Given the description of an element on the screen output the (x, y) to click on. 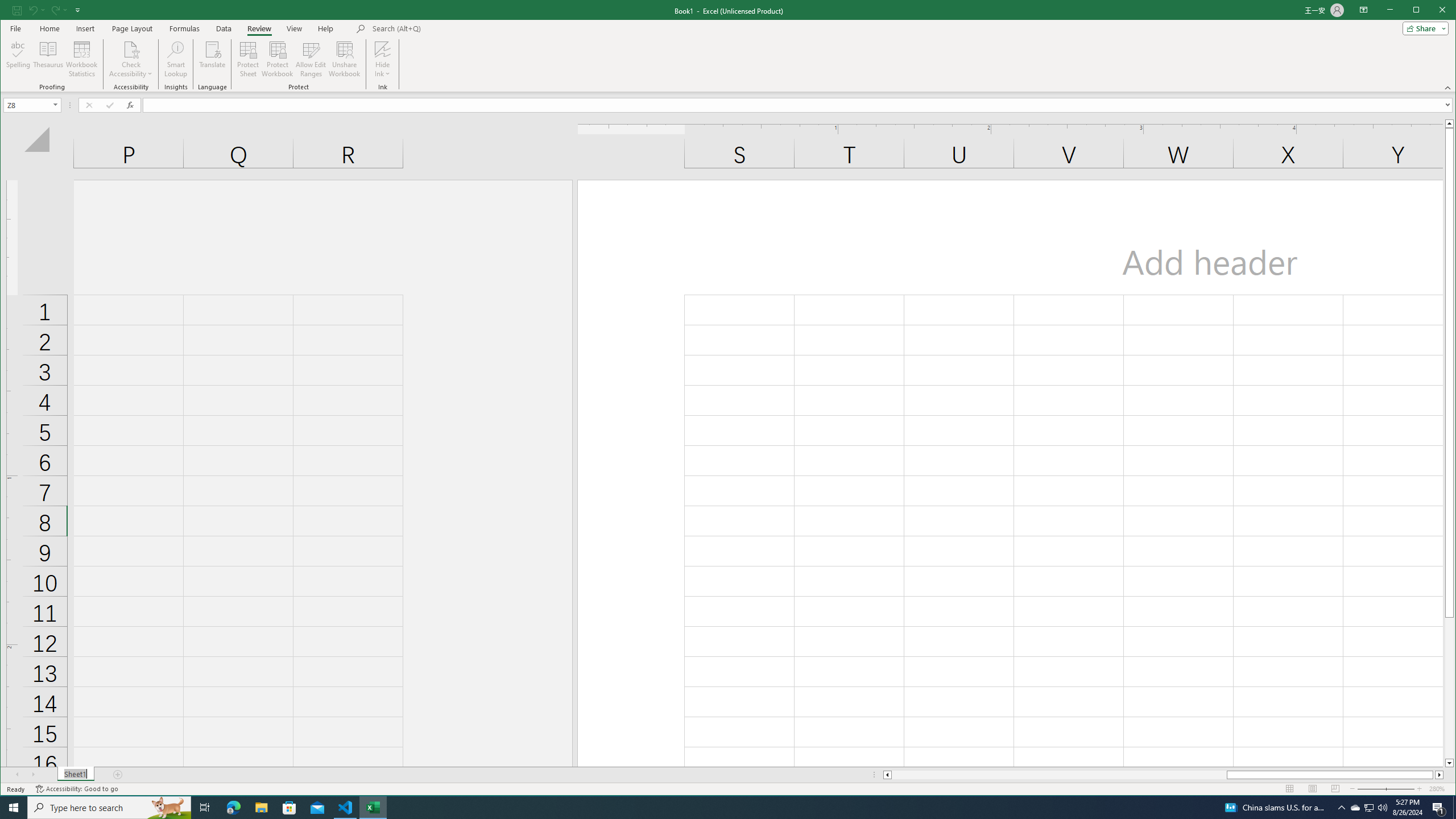
Protect Workbook... (277, 59)
Spelling... (18, 59)
Translate (212, 59)
Search highlights icon opens search home window (167, 807)
